Given the description of an element on the screen output the (x, y) to click on. 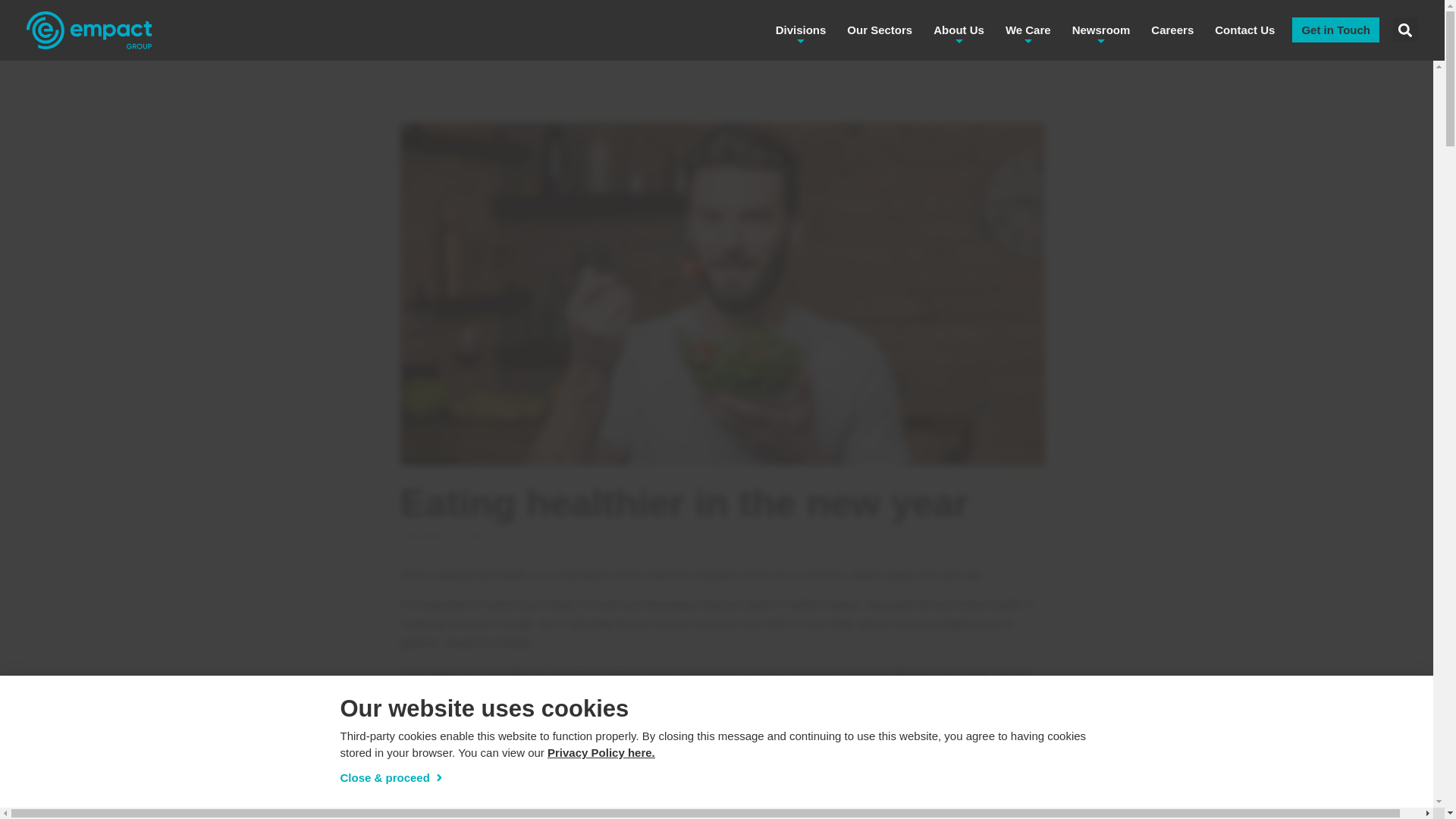
Careers (1171, 30)
Get in Touch (1335, 29)
Our Sectors (879, 30)
We Care (1027, 30)
About Us (959, 30)
Contact Us (1244, 30)
Newsroom (1101, 30)
Divisions (800, 30)
